Given the description of an element on the screen output the (x, y) to click on. 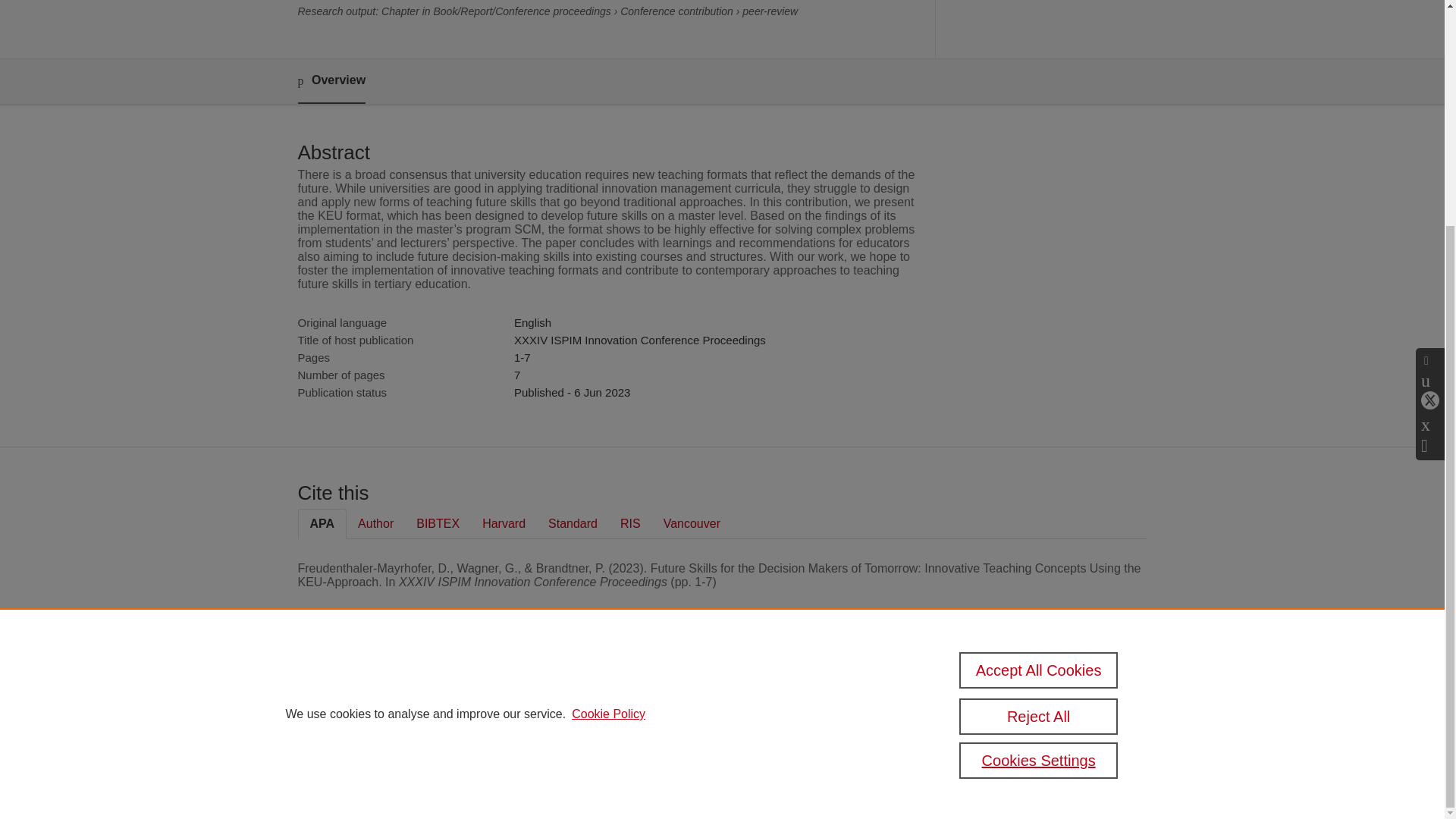
Pure (362, 687)
Overview (331, 81)
Cookies Settings (334, 761)
Scopus (394, 687)
use of cookies (796, 740)
Elsevier B.V. (506, 708)
Log in to Pure (327, 781)
About web accessibility (959, 719)
